Given the description of an element on the screen output the (x, y) to click on. 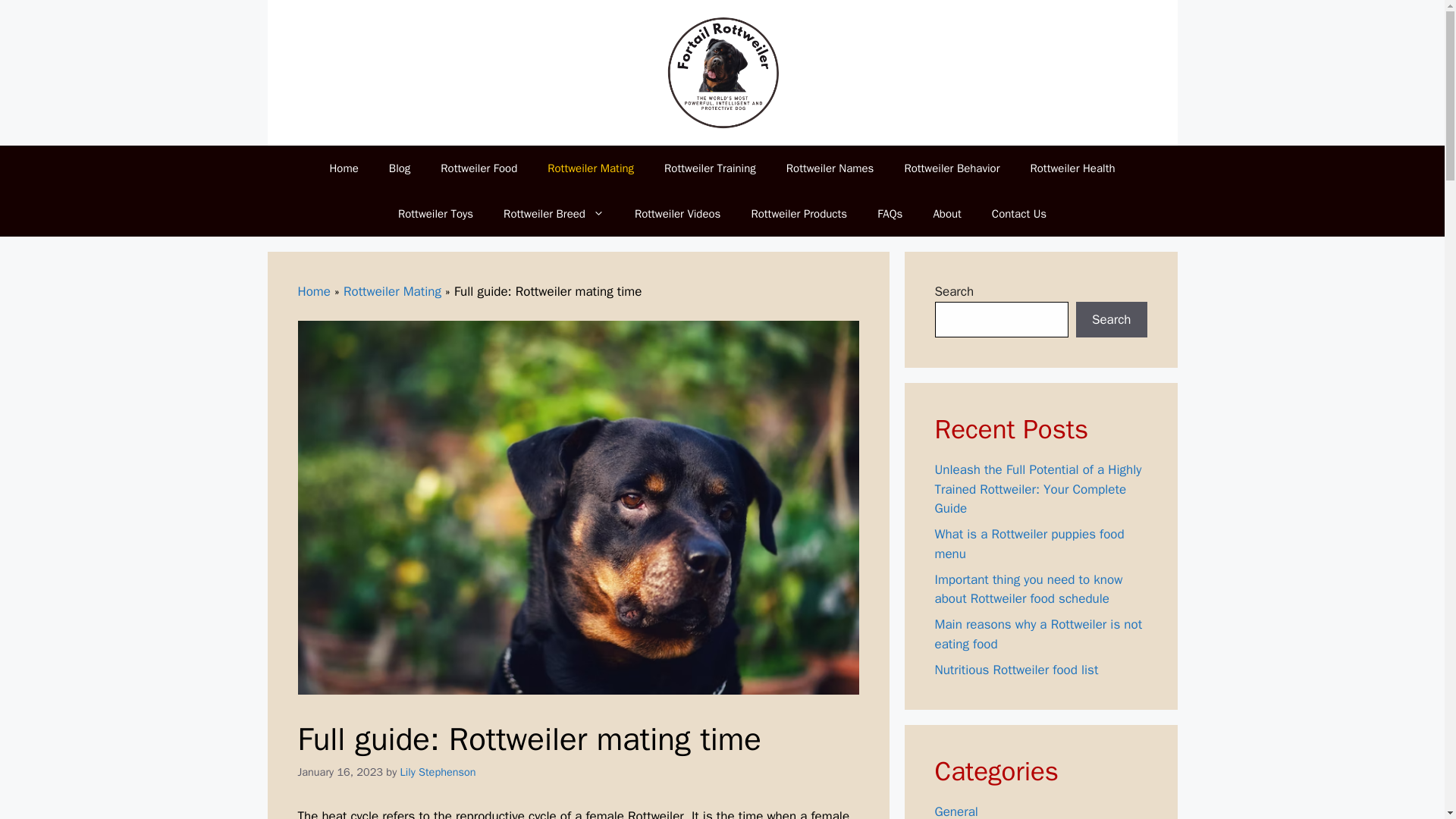
Rottweiler Toys (434, 213)
Contact Us (1018, 213)
Rottweiler Training (710, 167)
Rottweiler Breed (553, 213)
Rottweiler Names (830, 167)
Rottweiler Mating (590, 167)
Rottweiler Behavior (951, 167)
View all posts by Lily Stephenson (438, 771)
Rottweiler Food (478, 167)
Rottweiler Mating (392, 291)
About (946, 213)
Rottweiler Health (1071, 167)
Blog (399, 167)
Home (313, 291)
Rottweiler Products (798, 213)
